Given the description of an element on the screen output the (x, y) to click on. 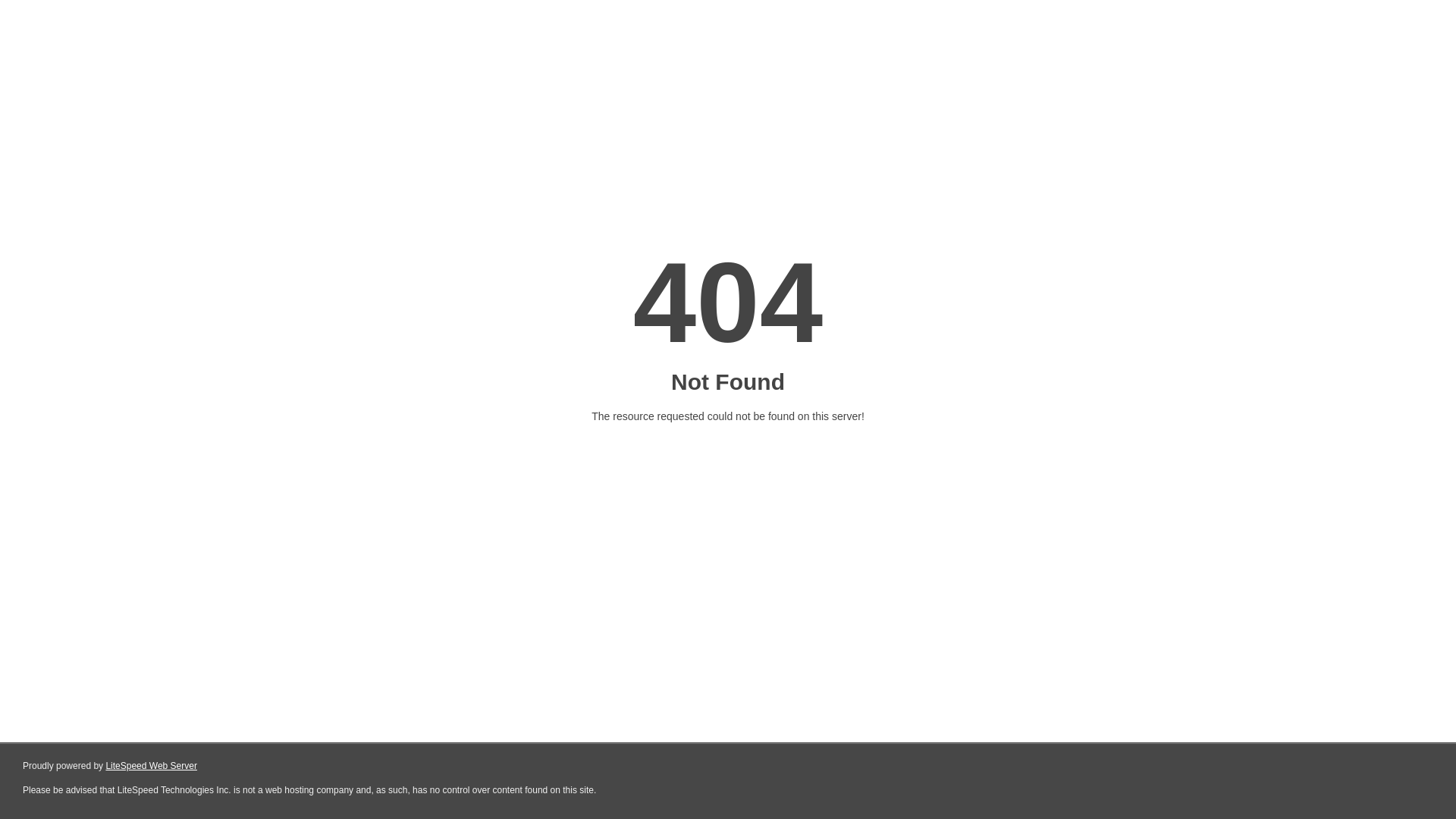
LiteSpeed Web Server Element type: text (151, 765)
